Given the description of an element on the screen output the (x, y) to click on. 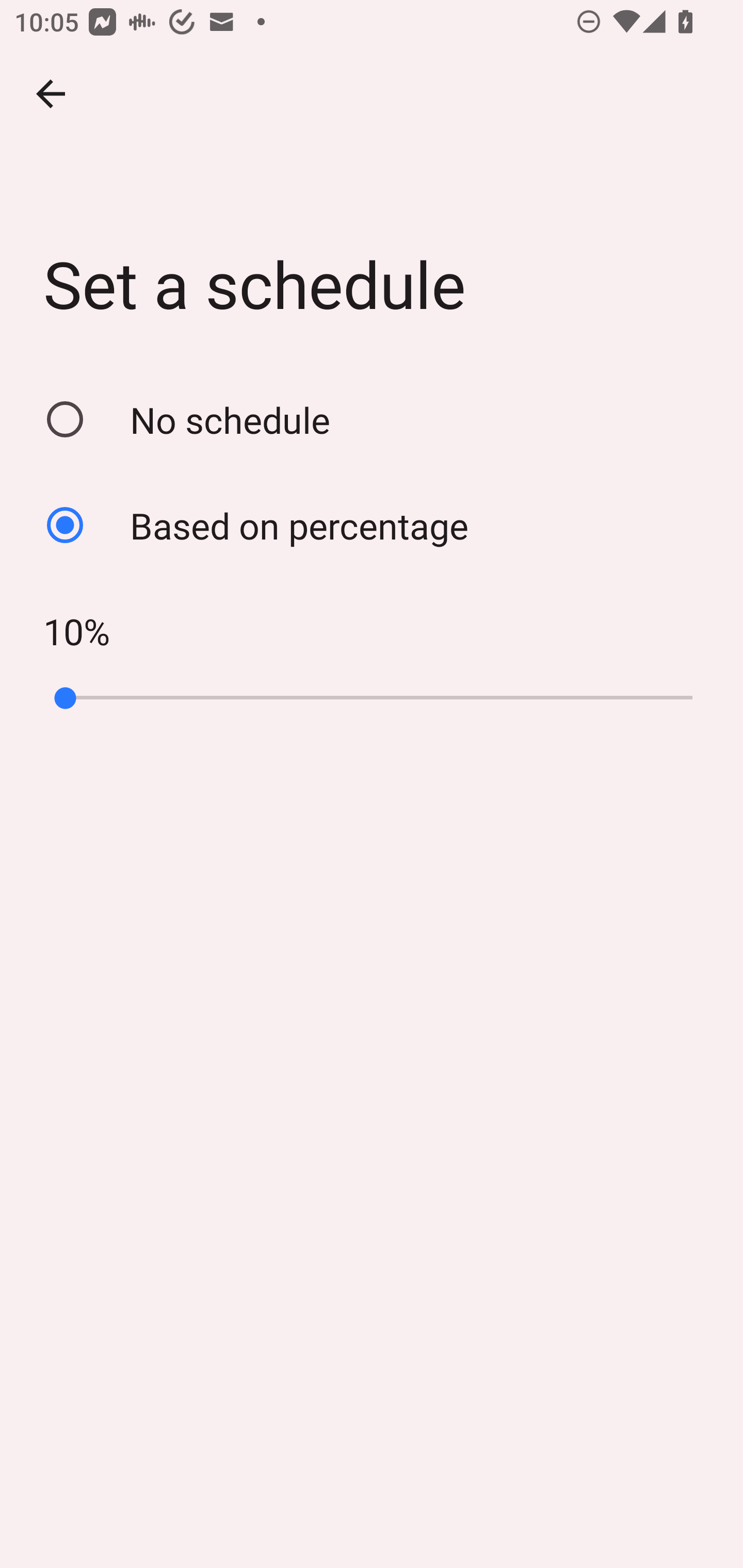
Navigate up (50, 93)
No schedule (371, 418)
Based on percentage (371, 524)
